Given the description of an element on the screen output the (x, y) to click on. 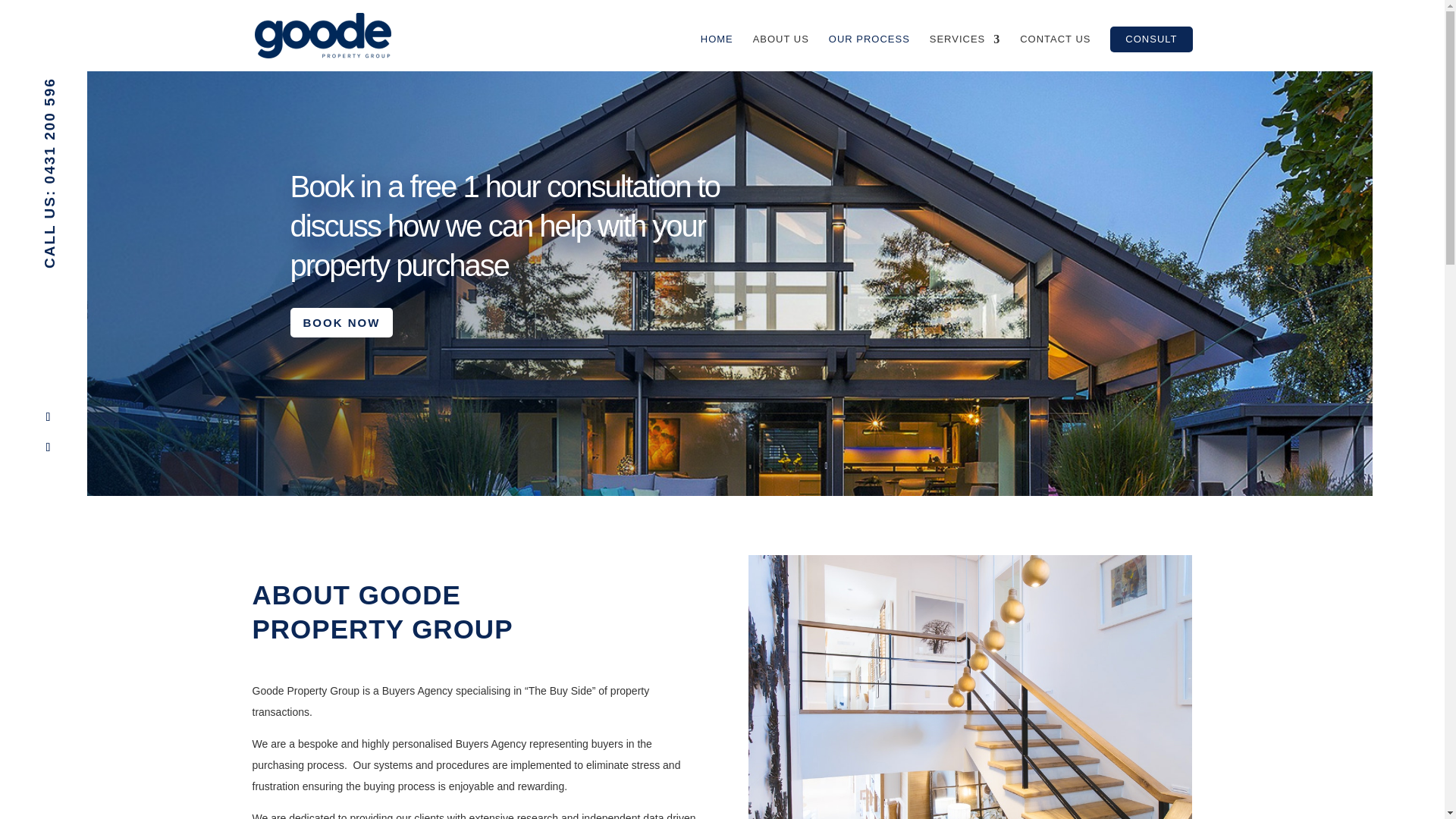
OUR PROCESS (869, 52)
Follow on LinkedIn (46, 446)
CONTACT US (1055, 52)
Follow on Facebook (46, 416)
SERVICES (965, 52)
ABOUT US (780, 52)
CONSULT (1150, 39)
